Given the description of an element on the screen output the (x, y) to click on. 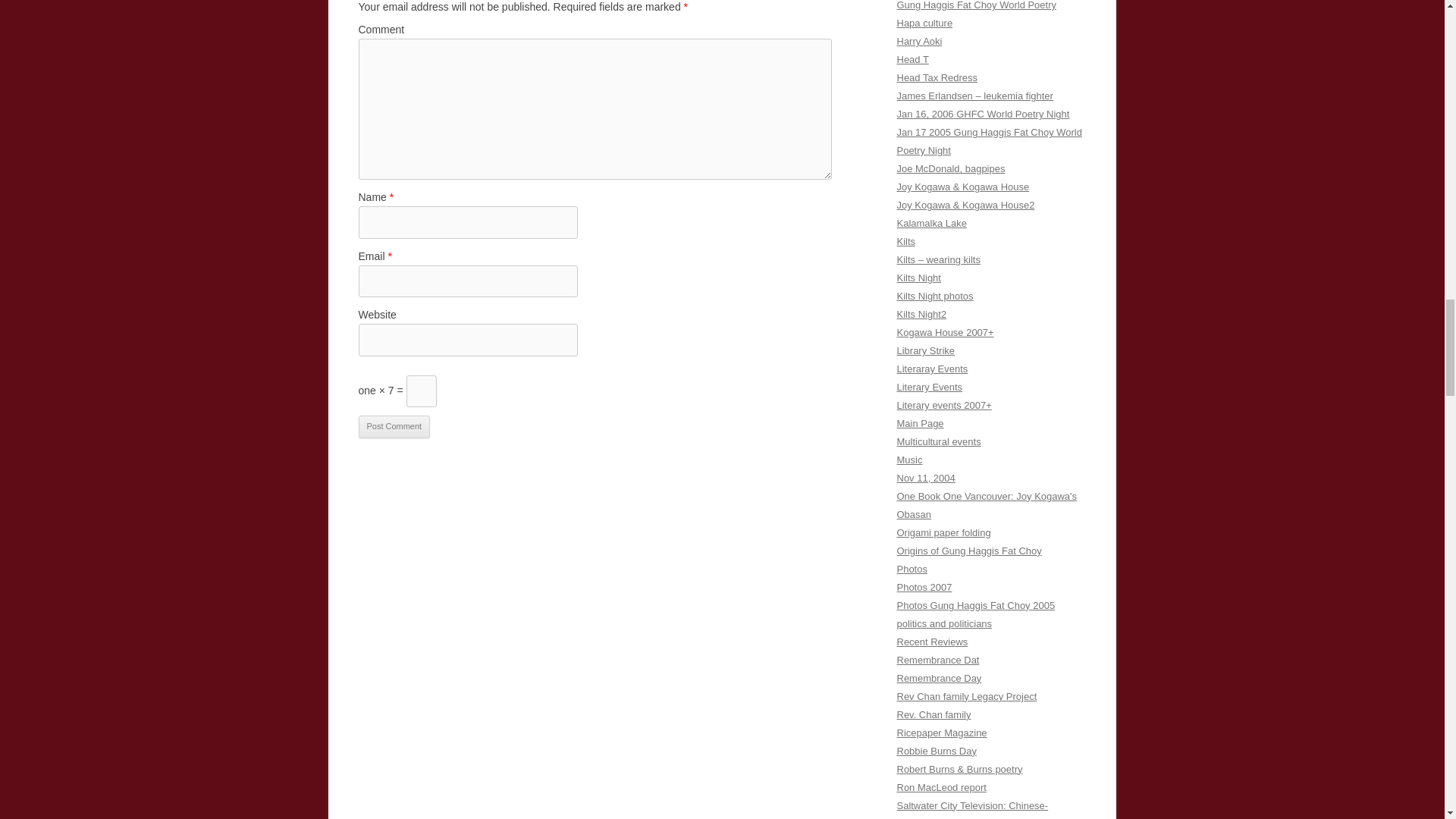
Post Comment (393, 426)
Post Comment (393, 426)
